Given the description of an element on the screen output the (x, y) to click on. 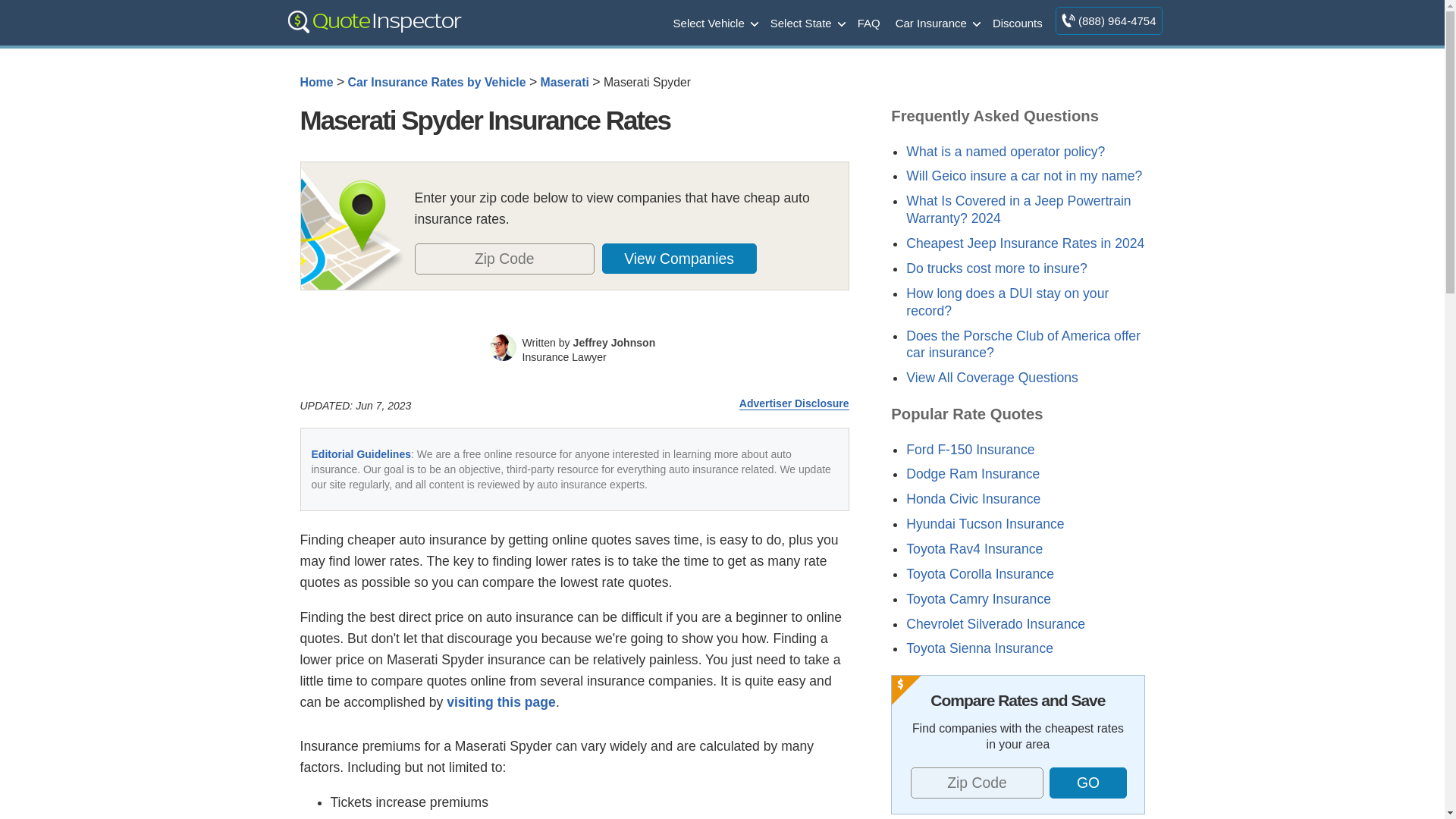
Car Insurance Rates by Vehicle (436, 82)
Zip Code must be filled out! (977, 782)
Tap to get your quotes! (687, 258)
Tap to get your quotes! (1086, 782)
View Companies (679, 258)
Select State (806, 22)
Maserati (564, 82)
GO (1087, 782)
Select Vehicle (713, 22)
Zip Code must be filled out! (503, 258)
Home (316, 82)
